Given the description of an element on the screen output the (x, y) to click on. 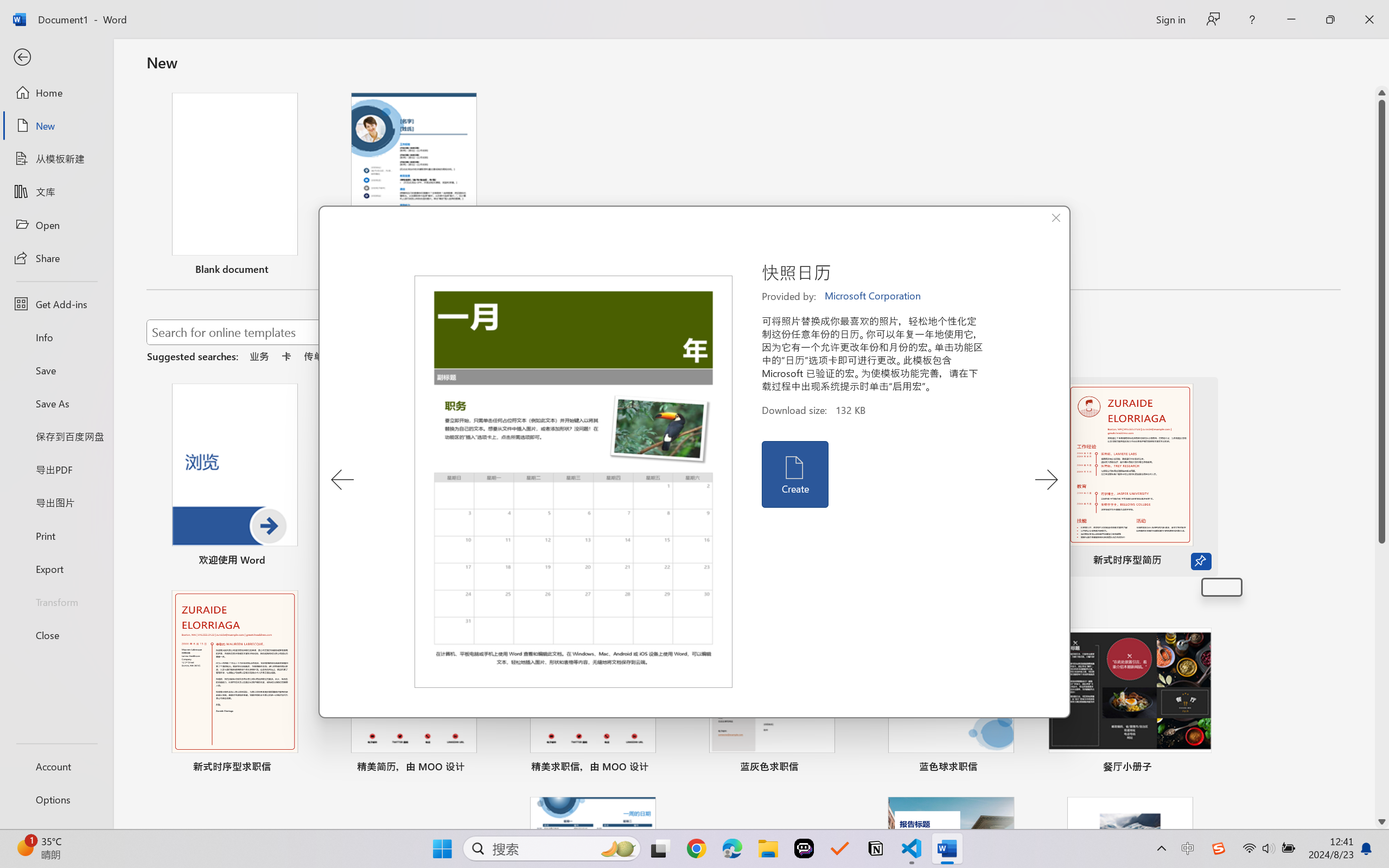
Info (56, 337)
Print (56, 535)
Pin to list (1222, 587)
Unpin from list (485, 270)
